Given the description of an element on the screen output the (x, y) to click on. 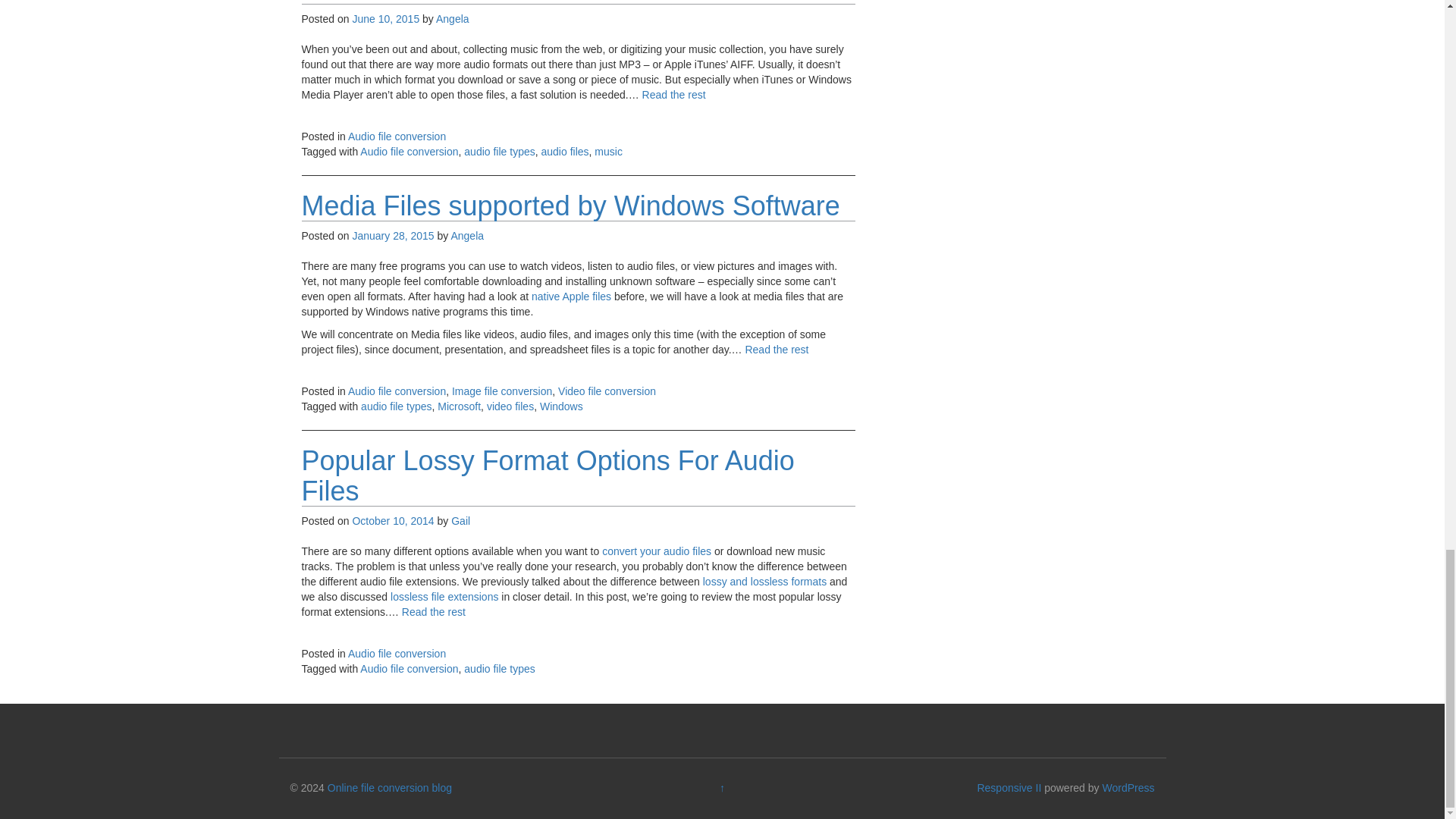
17:35 (392, 235)
17:58 (385, 19)
View all posts by Gail (460, 521)
View all posts by Angela (466, 235)
14:51 (392, 521)
View all posts by Angela (451, 19)
